Given the description of an element on the screen output the (x, y) to click on. 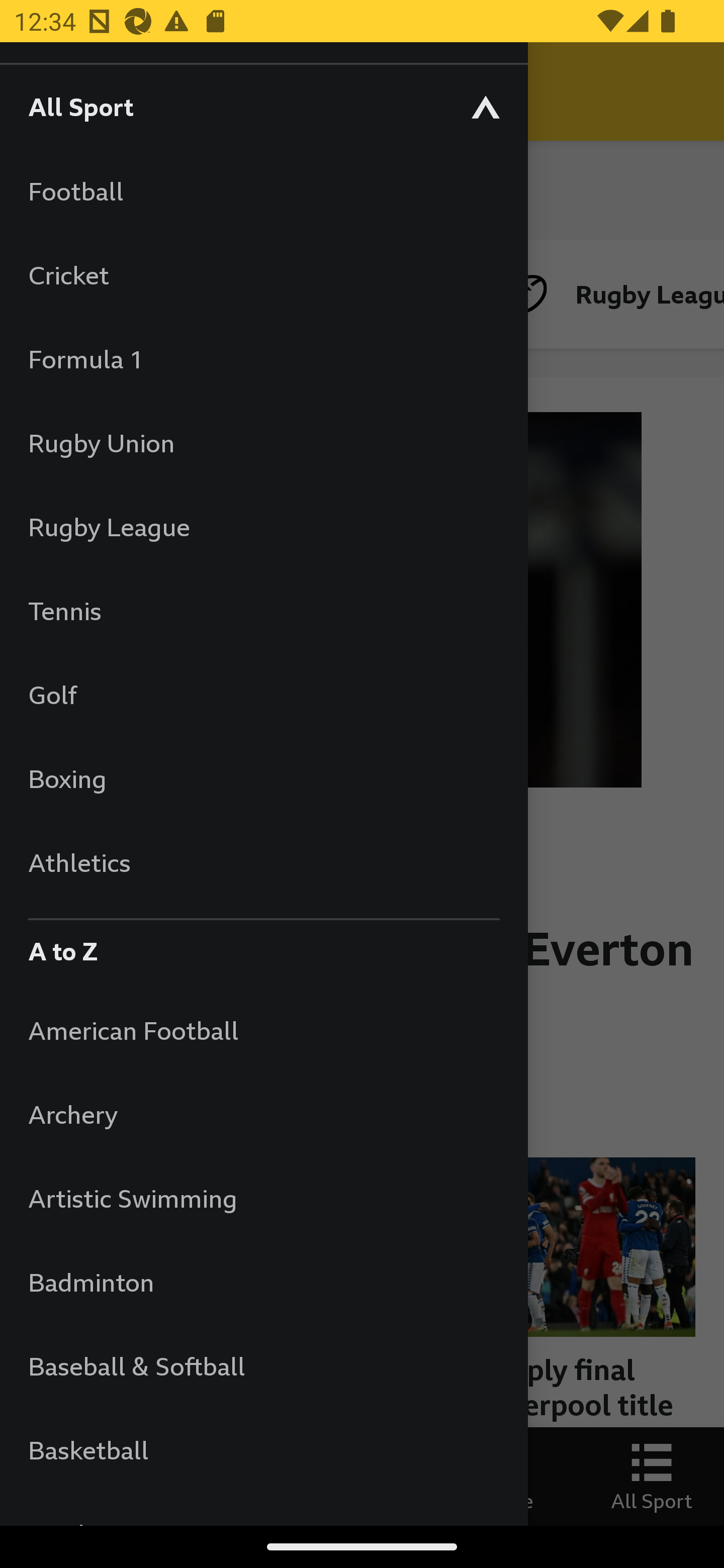
All Sport (263, 105)
Football (263, 190)
Cricket (263, 274)
Formula 1 (263, 358)
Rugby Union (263, 441)
Rugby League (263, 526)
Tennis (263, 609)
Golf (263, 694)
Boxing (263, 778)
Athletics (263, 862)
A to Z (263, 945)
American Football (263, 1029)
Archery (263, 1114)
Artistic Swimming (263, 1197)
Badminton (263, 1282)
Baseball & Softball (263, 1365)
Basketball (263, 1450)
